Given the description of an element on the screen output the (x, y) to click on. 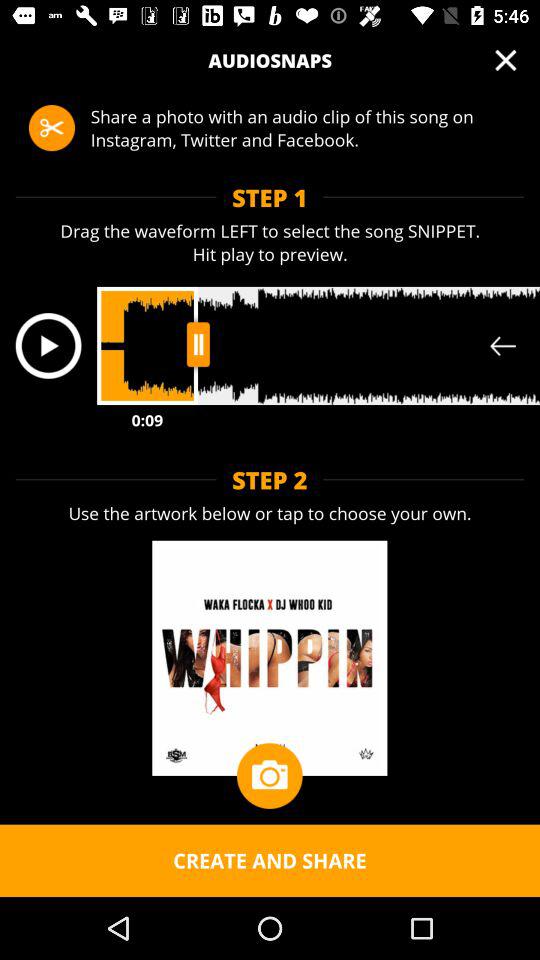
launch item above share a photo app (505, 60)
